Given the description of an element on the screen output the (x, y) to click on. 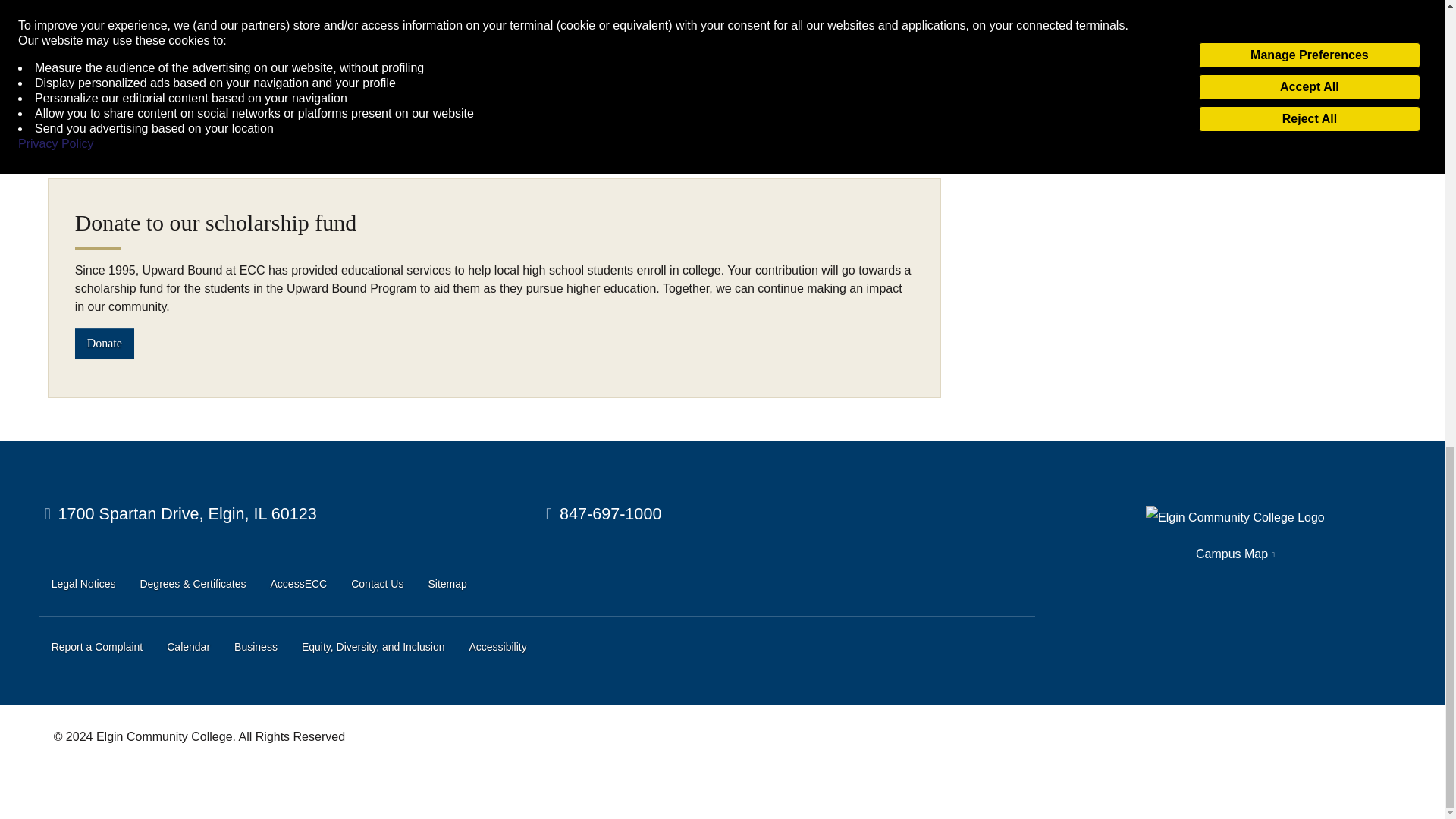
Business (256, 647)
Accessibility (496, 647)
Donate (104, 342)
Legal Notices (83, 584)
AccessECC (298, 584)
Donate (104, 342)
Contact Us (376, 584)
Sitemap (446, 584)
Report a Complaint (96, 647)
Spartan Drive Campus Map (181, 513)
Equity, Diversity, and Inclusion (373, 647)
Calendar (188, 647)
Contact ECC for general information (603, 513)
